Given the description of an element on the screen output the (x, y) to click on. 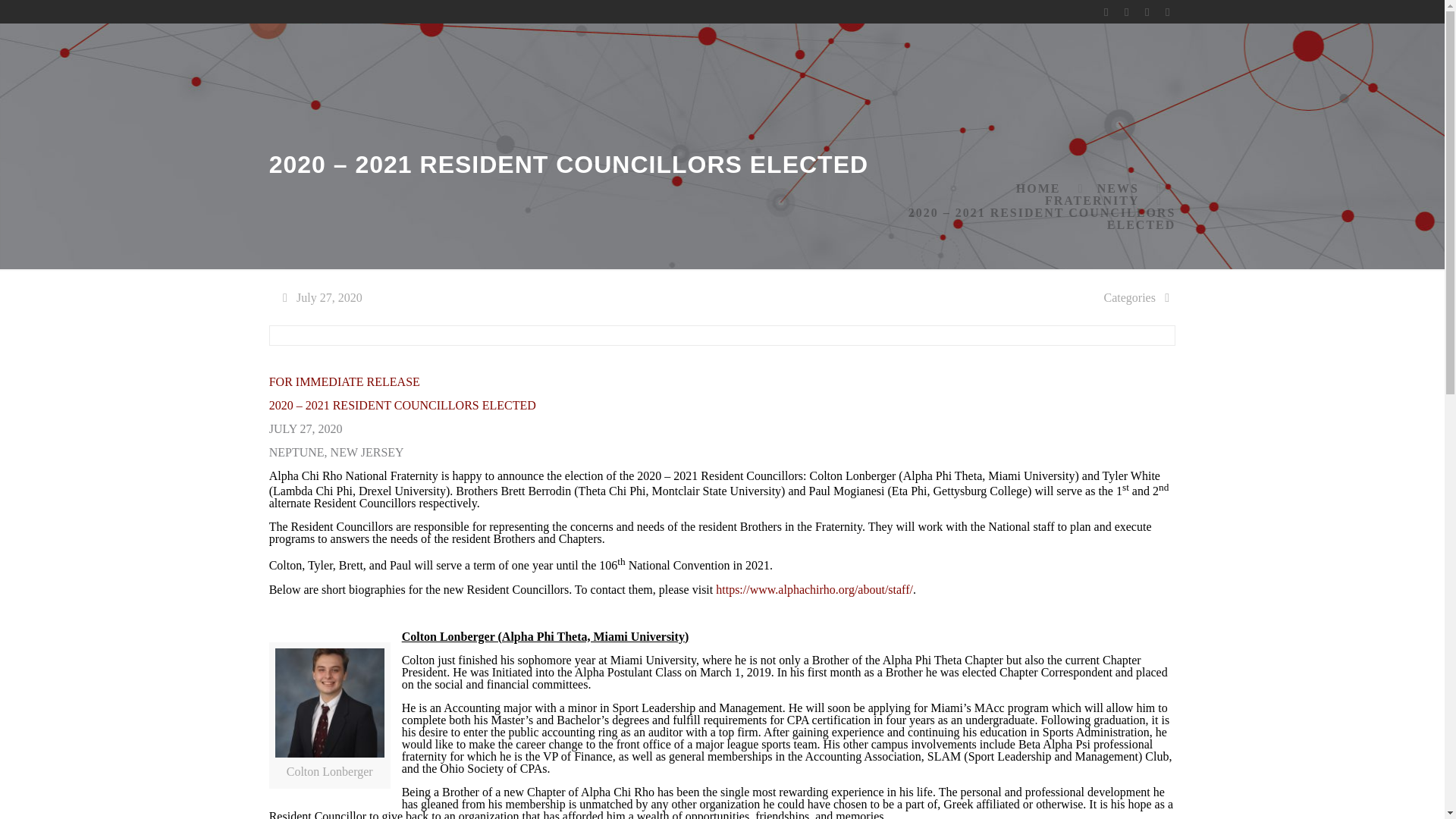
Facebook (1105, 11)
LinkedIn (1146, 11)
Twitter (1126, 11)
Instagram (1166, 11)
